Given the description of an element on the screen output the (x, y) to click on. 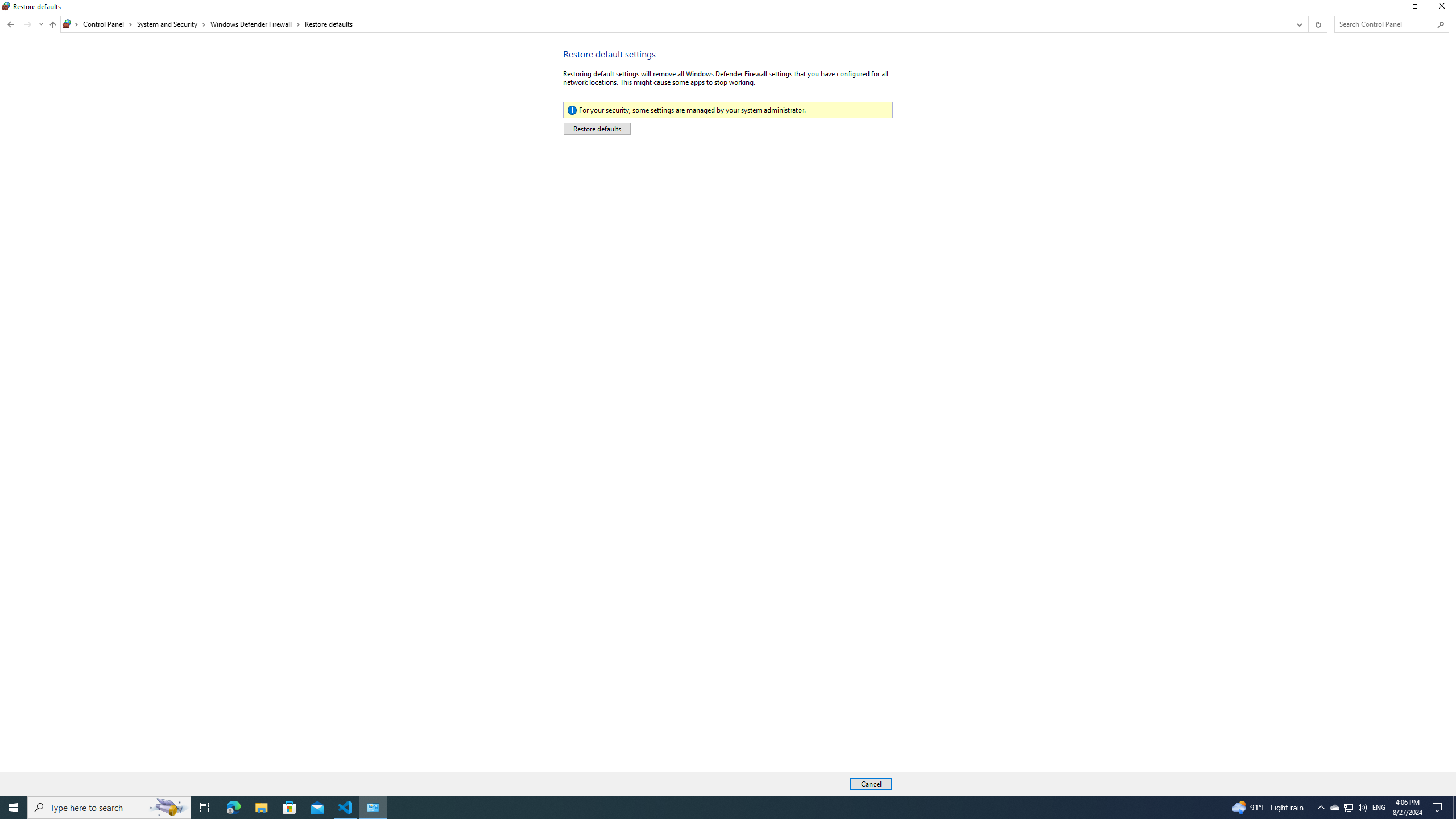
Windows Defender Firewall (255, 23)
Running applications (706, 807)
User Promoted Notification Area (1347, 807)
Up to "Windows Defender Firewall" (Alt + Up Arrow) (52, 24)
Notification Chevron (1320, 807)
Recent locations (40, 23)
Cancel (871, 783)
Minimize (1388, 8)
File Explorer (261, 807)
Control Panel - 1 running window (373, 807)
Forward (Alt + Right Arrow) (27, 23)
System and Security (171, 23)
Tray Input Indicator - English (United States) (1378, 807)
Q2790: 100% (1361, 807)
Back to Windows Defender Firewall (Alt + Left Arrow) (10, 23)
